Given the description of an element on the screen output the (x, y) to click on. 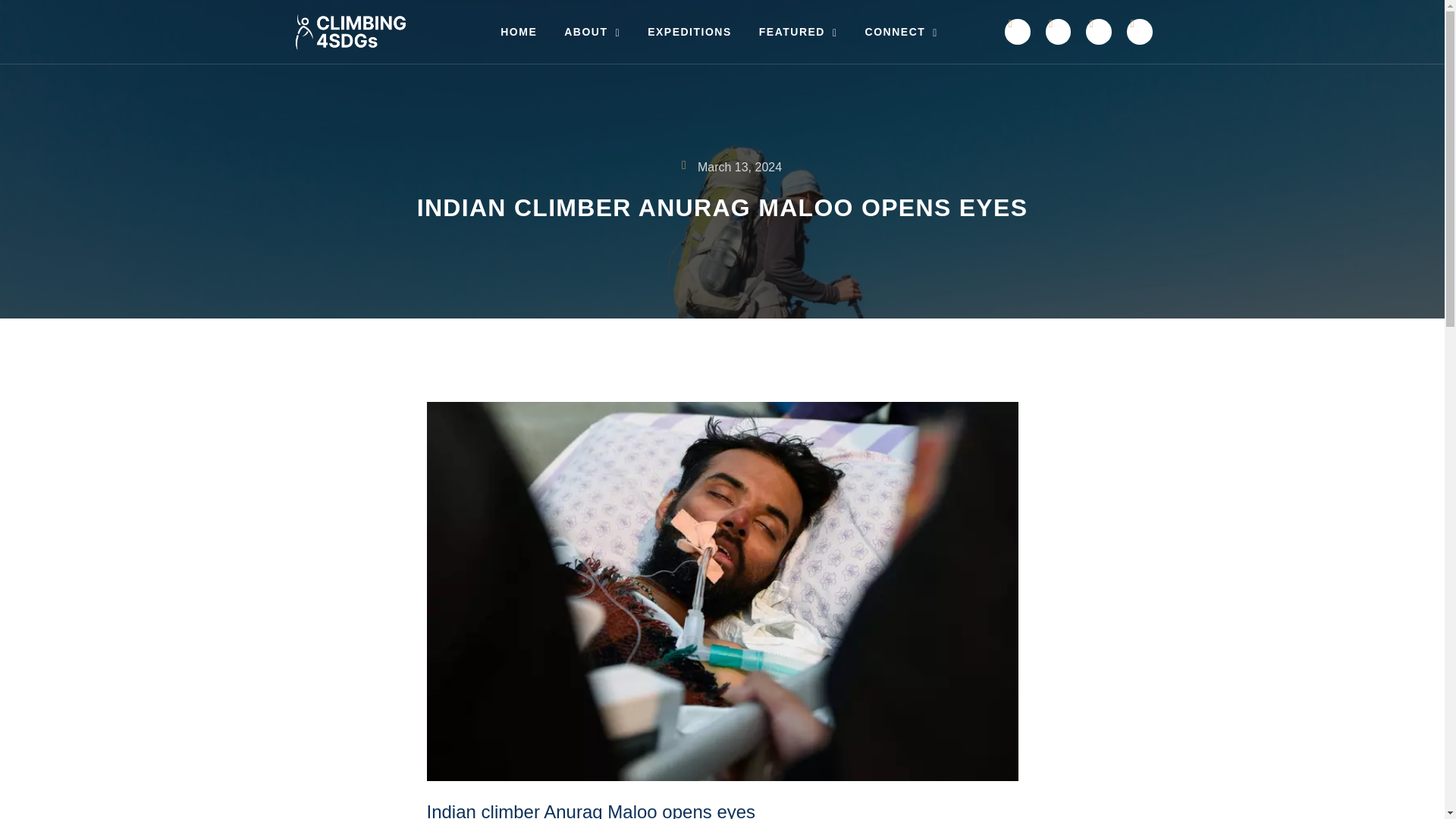
FEATURED (798, 31)
EXPEDITIONS (689, 31)
HOME (518, 31)
ABOUT (591, 31)
CONNECT (901, 31)
